Given the description of an element on the screen output the (x, y) to click on. 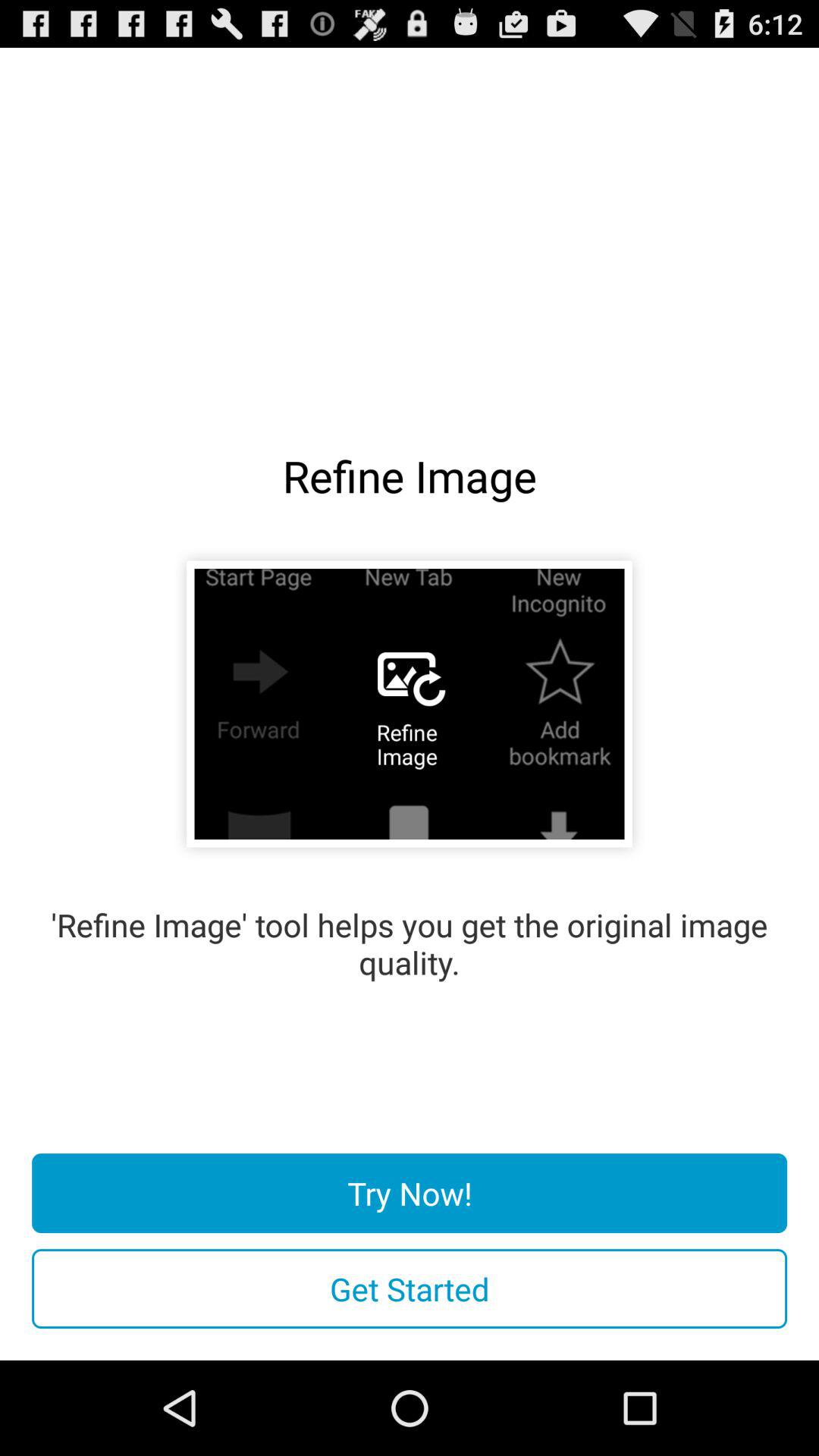
press app below the refine image tool item (409, 1193)
